Given the description of an element on the screen output the (x, y) to click on. 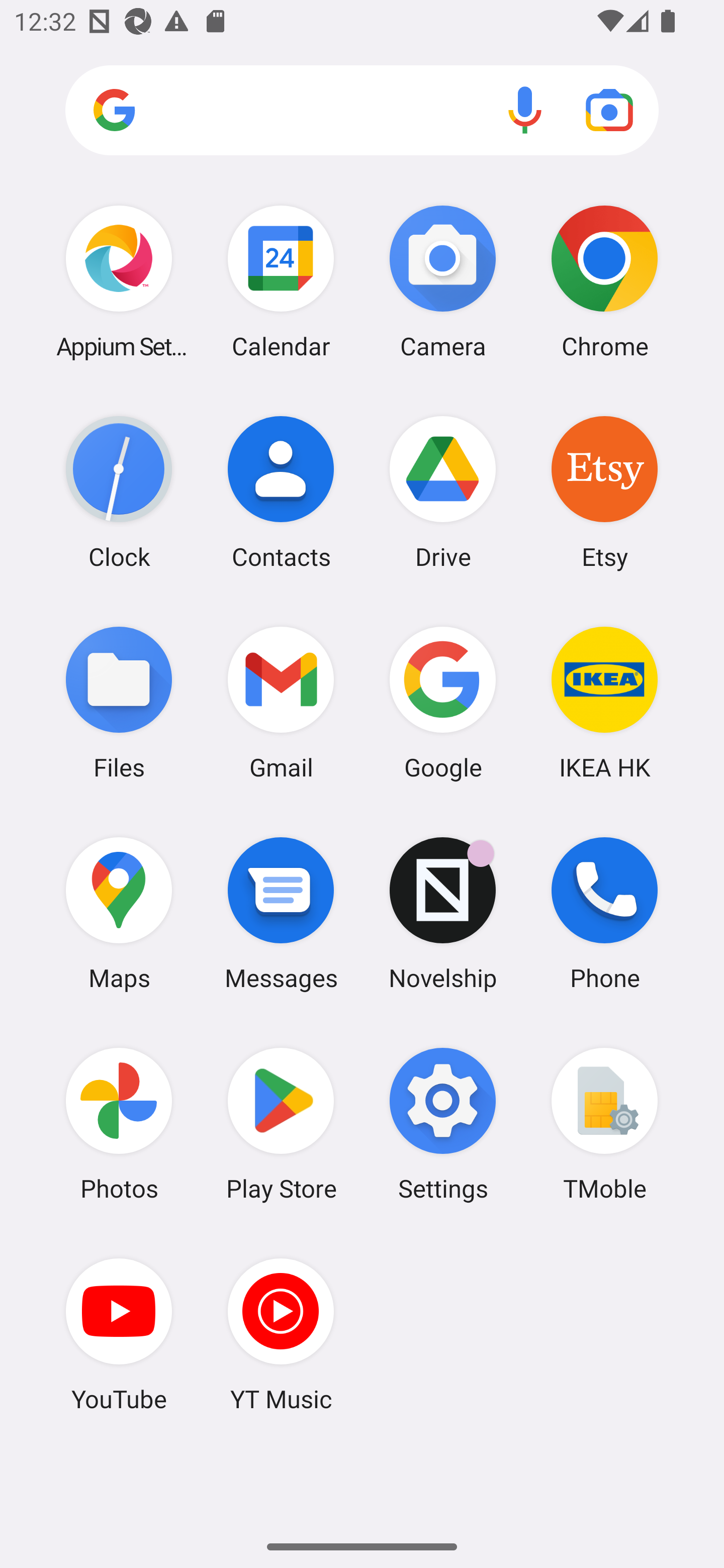
Search apps, web and more (361, 110)
Voice search (524, 109)
Google Lens (608, 109)
Appium Settings (118, 281)
Calendar (280, 281)
Camera (443, 281)
Chrome (604, 281)
Clock (118, 492)
Contacts (280, 492)
Drive (443, 492)
Etsy (604, 492)
Files (118, 702)
Gmail (280, 702)
Google (443, 702)
IKEA HK (604, 702)
Maps (118, 913)
Messages (280, 913)
Novelship Novelship has 7 notifications (443, 913)
Phone (604, 913)
Photos (118, 1124)
Play Store (280, 1124)
Settings (443, 1124)
TMoble (604, 1124)
YouTube (118, 1334)
YT Music (280, 1334)
